Given the description of an element on the screen output the (x, y) to click on. 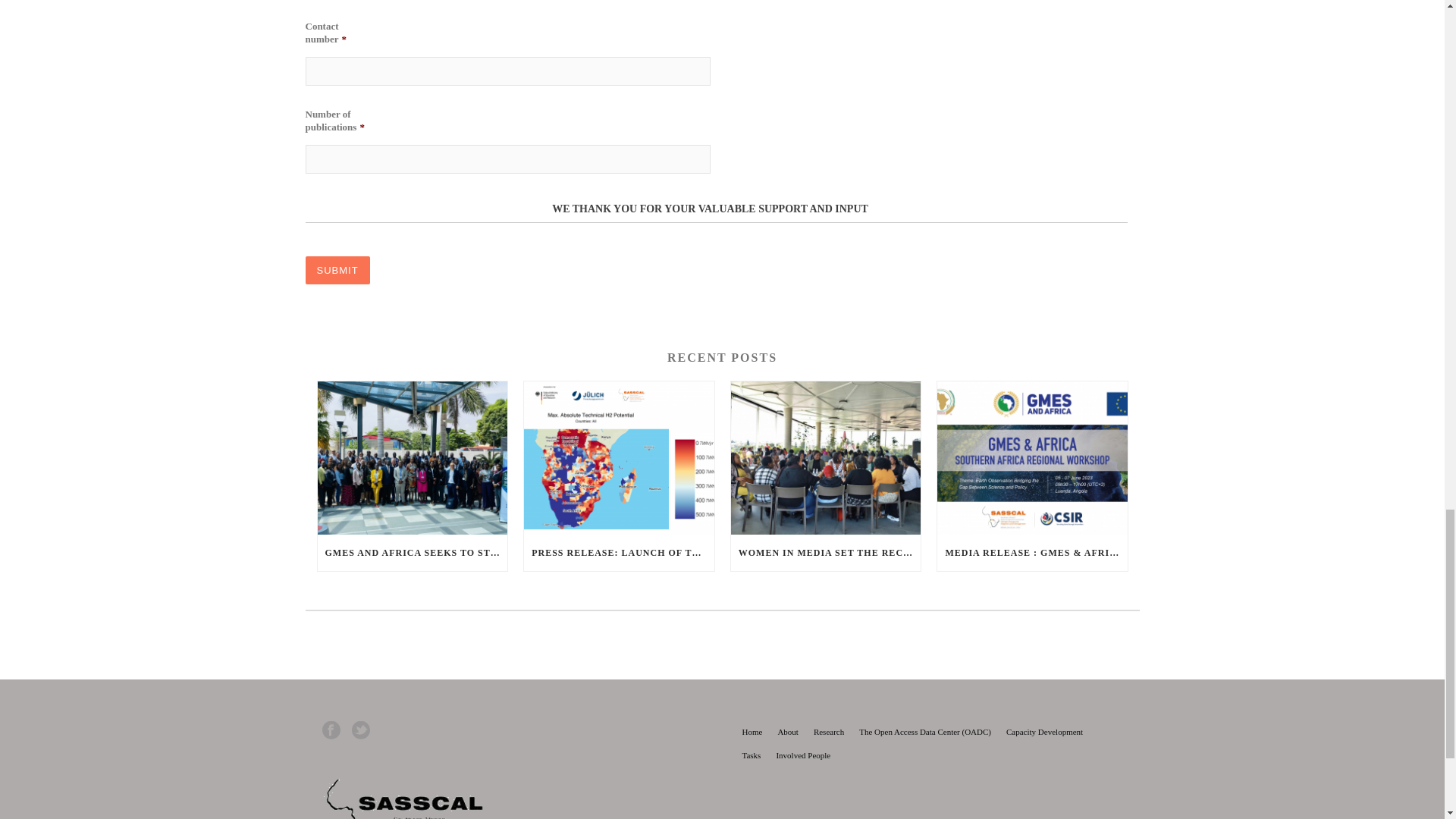
Press Release: Launch of the H2ATLAS Southern Africa (619, 457)
Submit (336, 270)
